Given the description of an element on the screen output the (x, y) to click on. 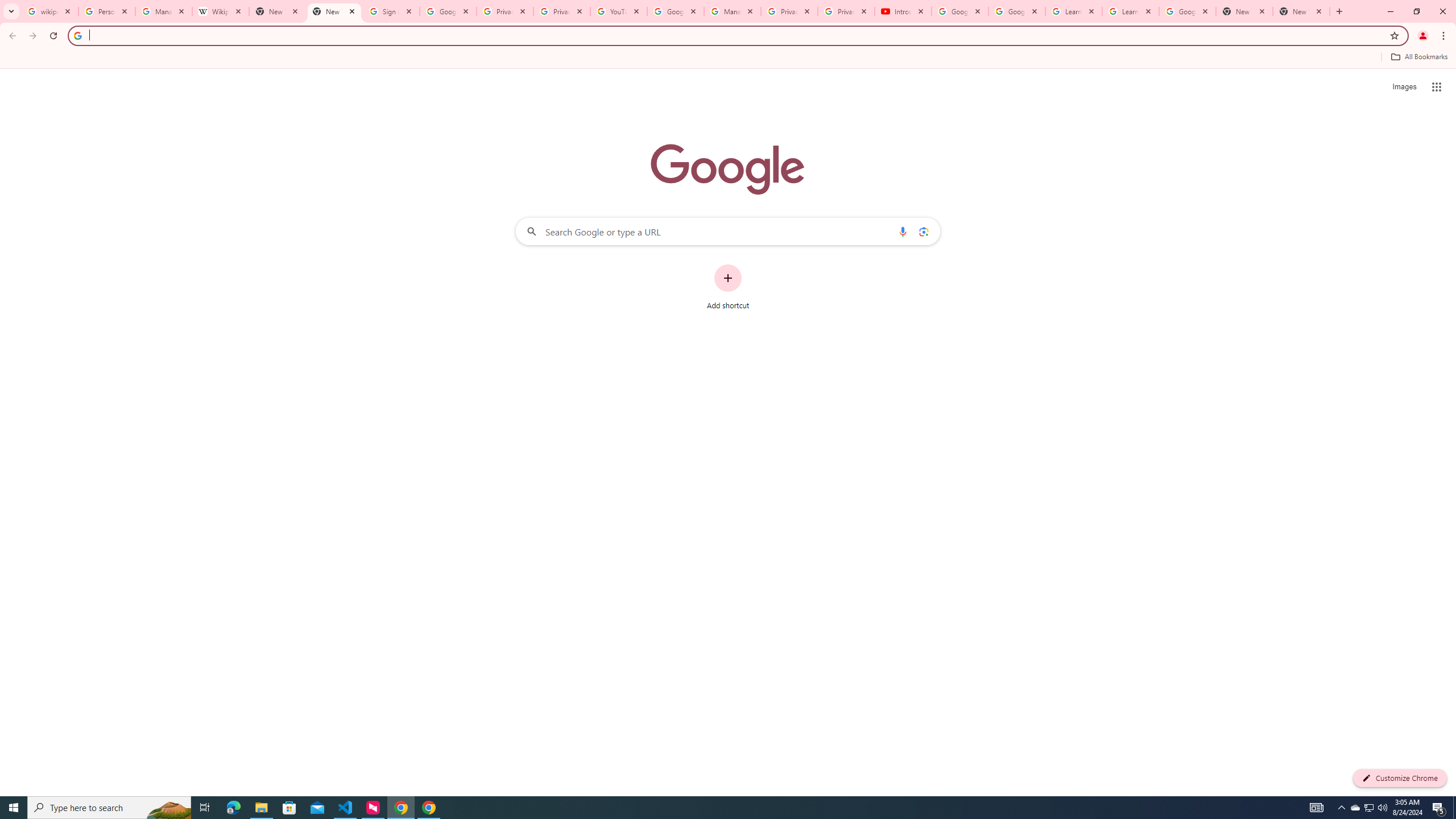
Search by voice (902, 230)
Google Account (1187, 11)
Search for Images  (1403, 87)
Google Account Help (959, 11)
New Tab (1244, 11)
